Given the description of an element on the screen output the (x, y) to click on. 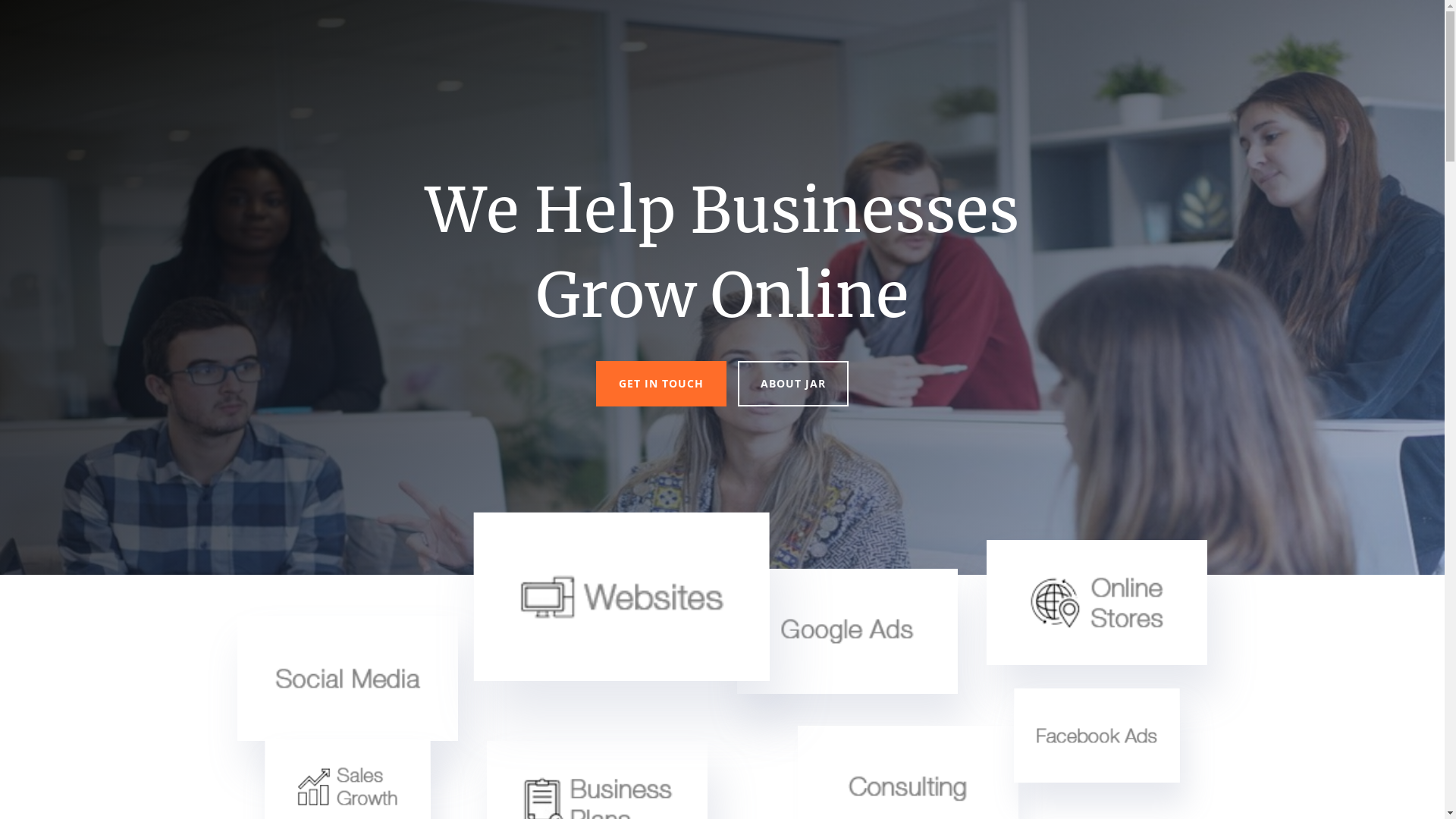
Facebook Ads Element type: hover (1121, 747)
Social Media Element type: hover (346, 678)
Google Ads Element type: hover (847, 631)
Websites Element type: hover (589, 579)
GET IN TOUCH Element type: text (661, 383)
ABOUT JAR Element type: text (792, 383)
Online Stores Element type: hover (1096, 602)
